Given the description of an element on the screen output the (x, y) to click on. 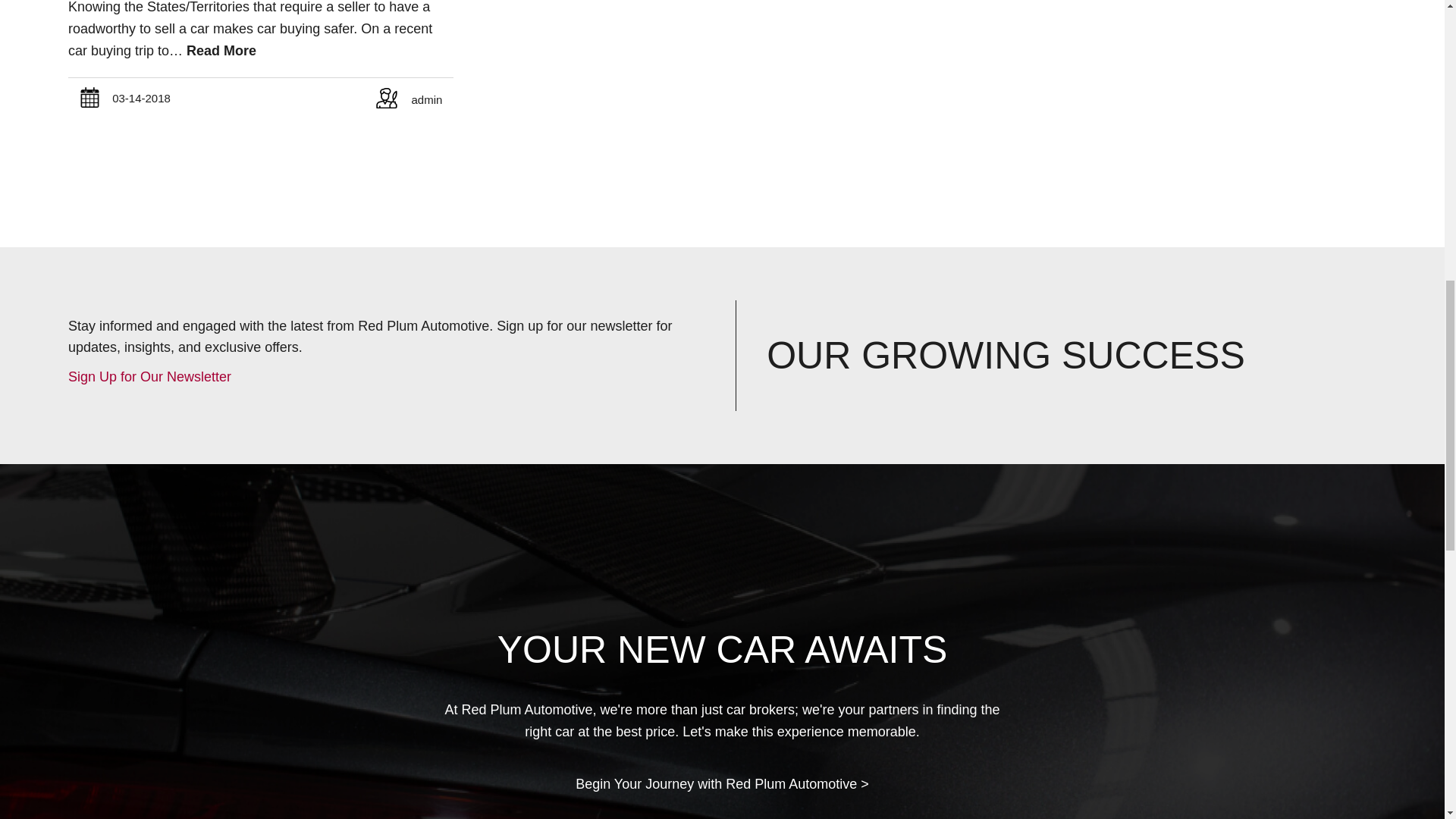
Sign Up for Our Newsletter (149, 376)
